Given the description of an element on the screen output the (x, y) to click on. 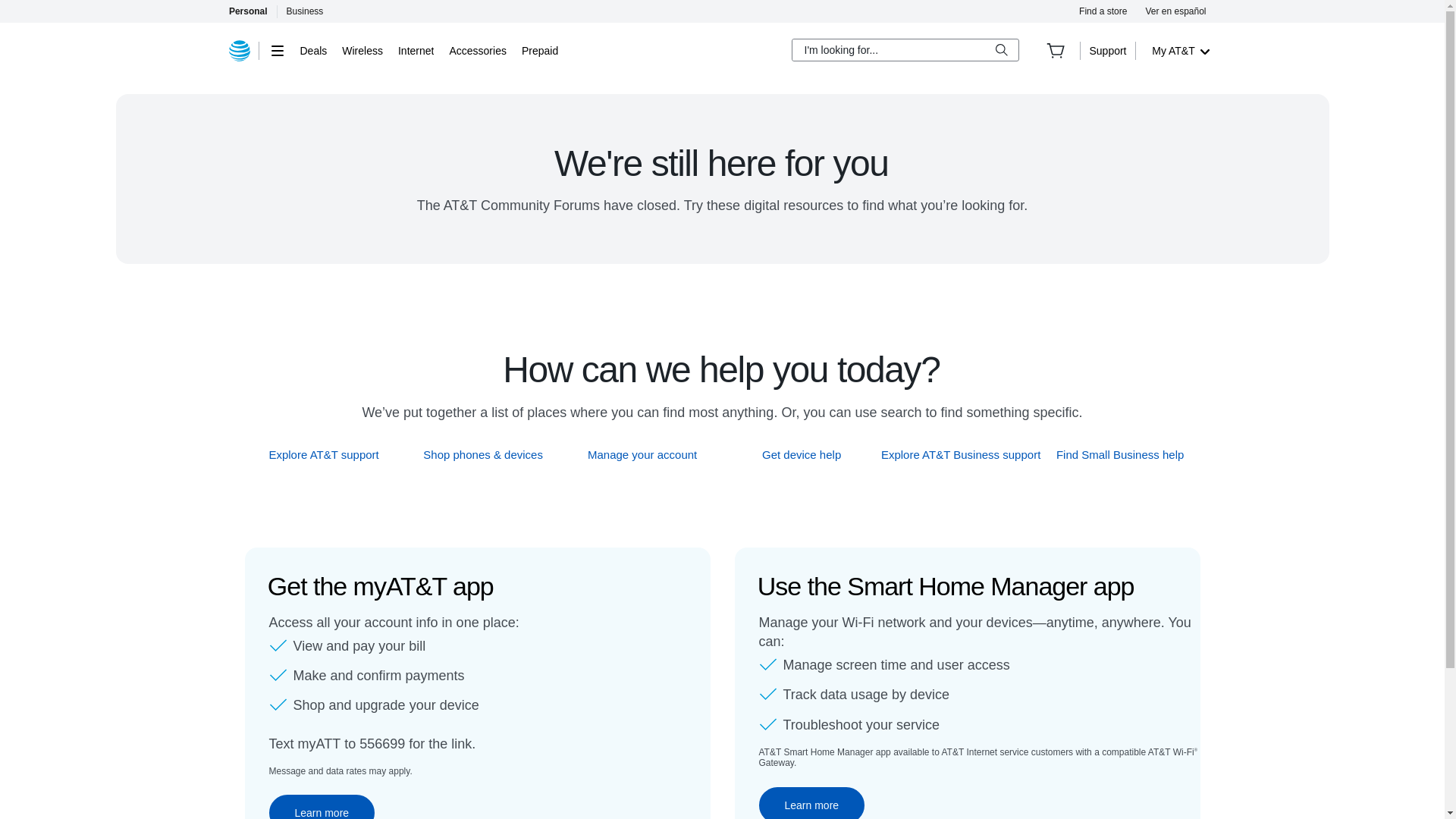
Support (1107, 50)
Accessories (476, 50)
Find Small Business help (1121, 454)
Personal (247, 10)
Learn more (320, 806)
Business (305, 10)
Support (1107, 50)
Get device help (801, 454)
Wireless (362, 50)
Learn more (811, 803)
Prepaid (539, 50)
Find a store (1102, 10)
Internet (415, 50)
Search (1000, 50)
Manage your account (642, 454)
